Given the description of an element on the screen output the (x, y) to click on. 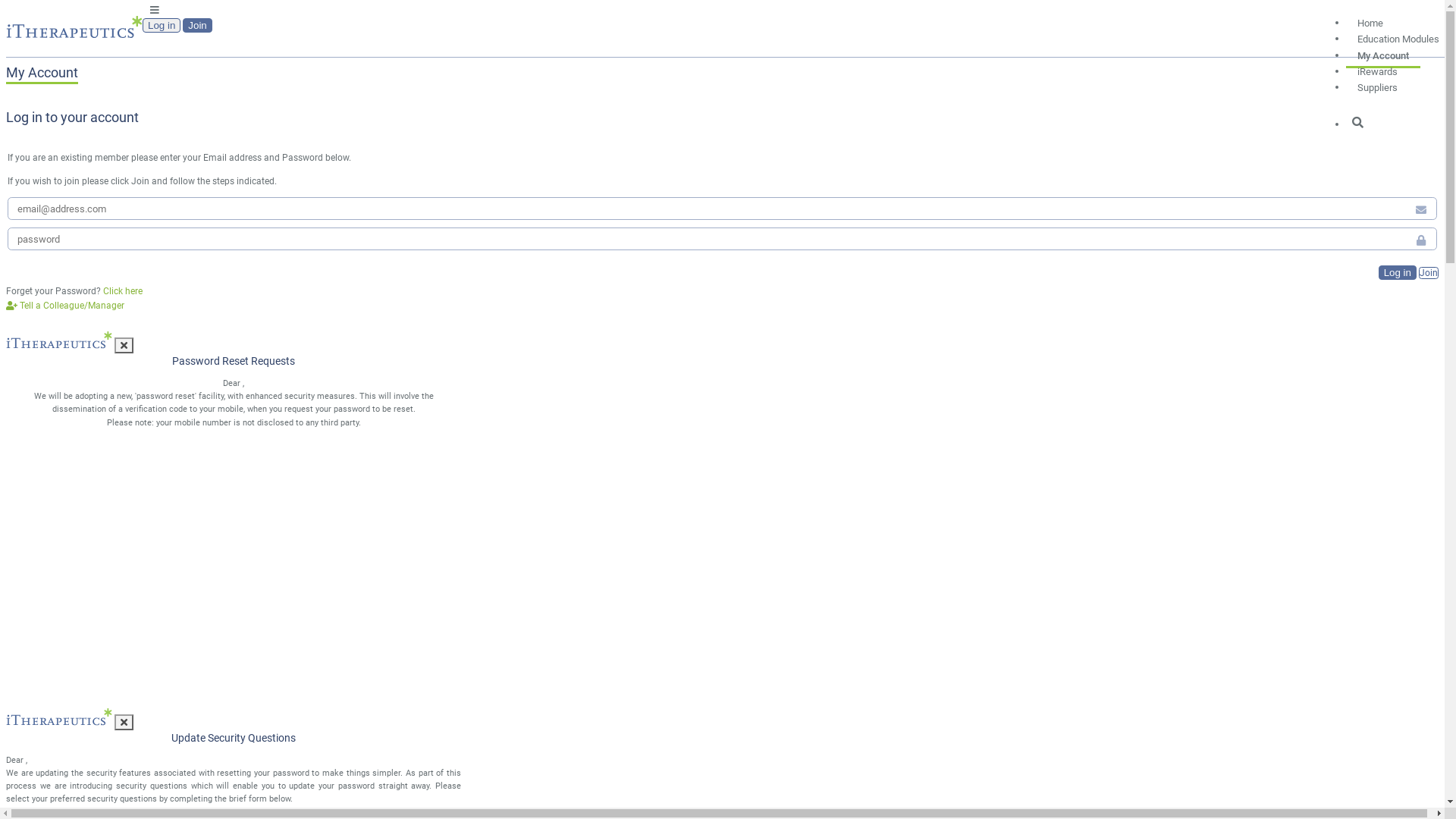
iRewards Element type: text (1377, 67)
Suppliers Element type: text (1377, 83)
Home Element type: text (1370, 19)
My Account Element type: text (1383, 53)
Education Modules Element type: text (1398, 35)
Click here Element type: text (122, 290)
Join Element type: text (196, 25)
Log in Element type: text (1397, 272)
Tell a Colleague/Manager Element type: text (65, 305)
Log in Element type: text (161, 25)
Join Element type: text (1428, 272)
Toggle navigation Element type: text (154, 8)
